Given the description of an element on the screen output the (x, y) to click on. 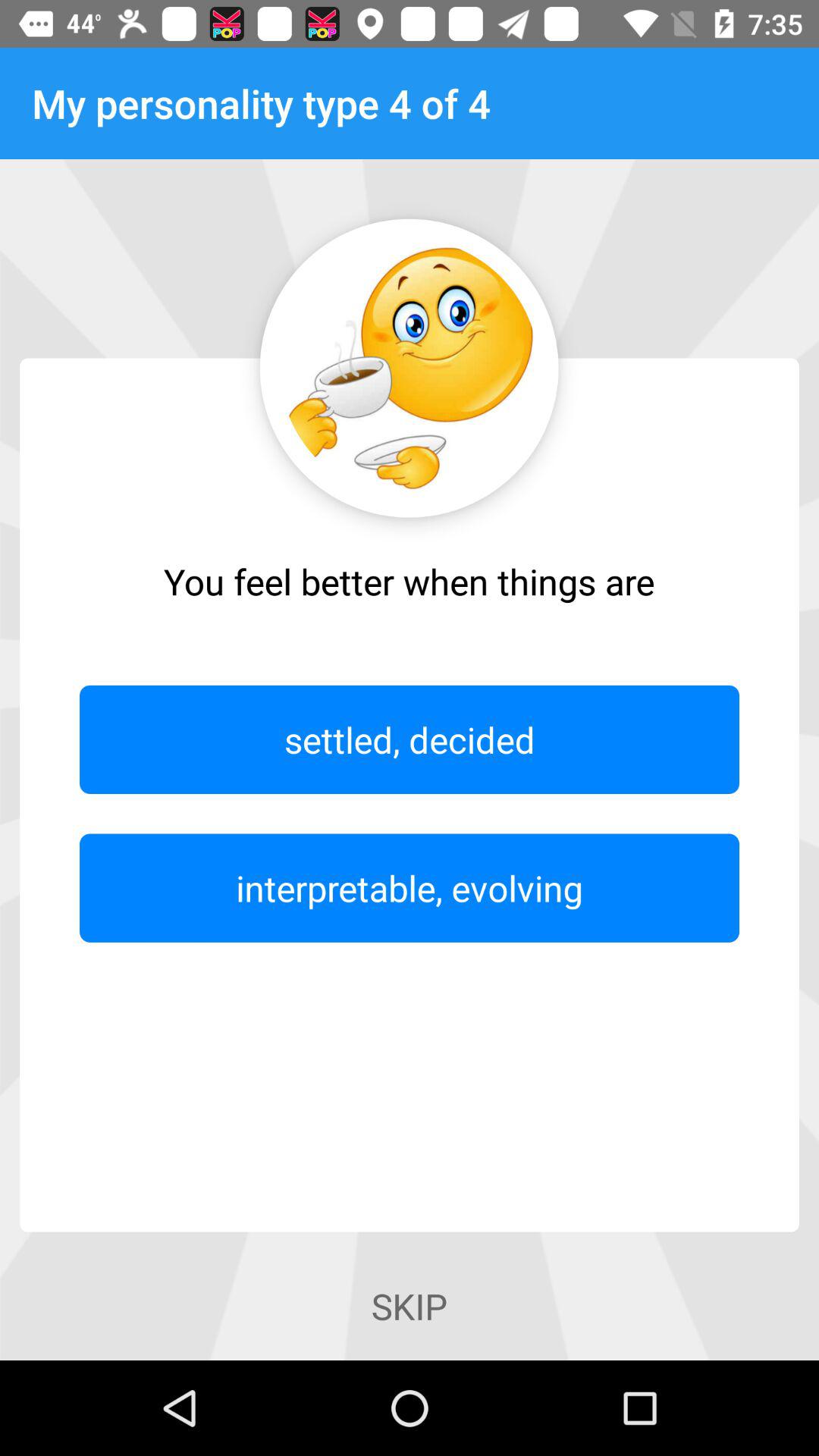
scroll until skip (409, 1305)
